Given the description of an element on the screen output the (x, y) to click on. 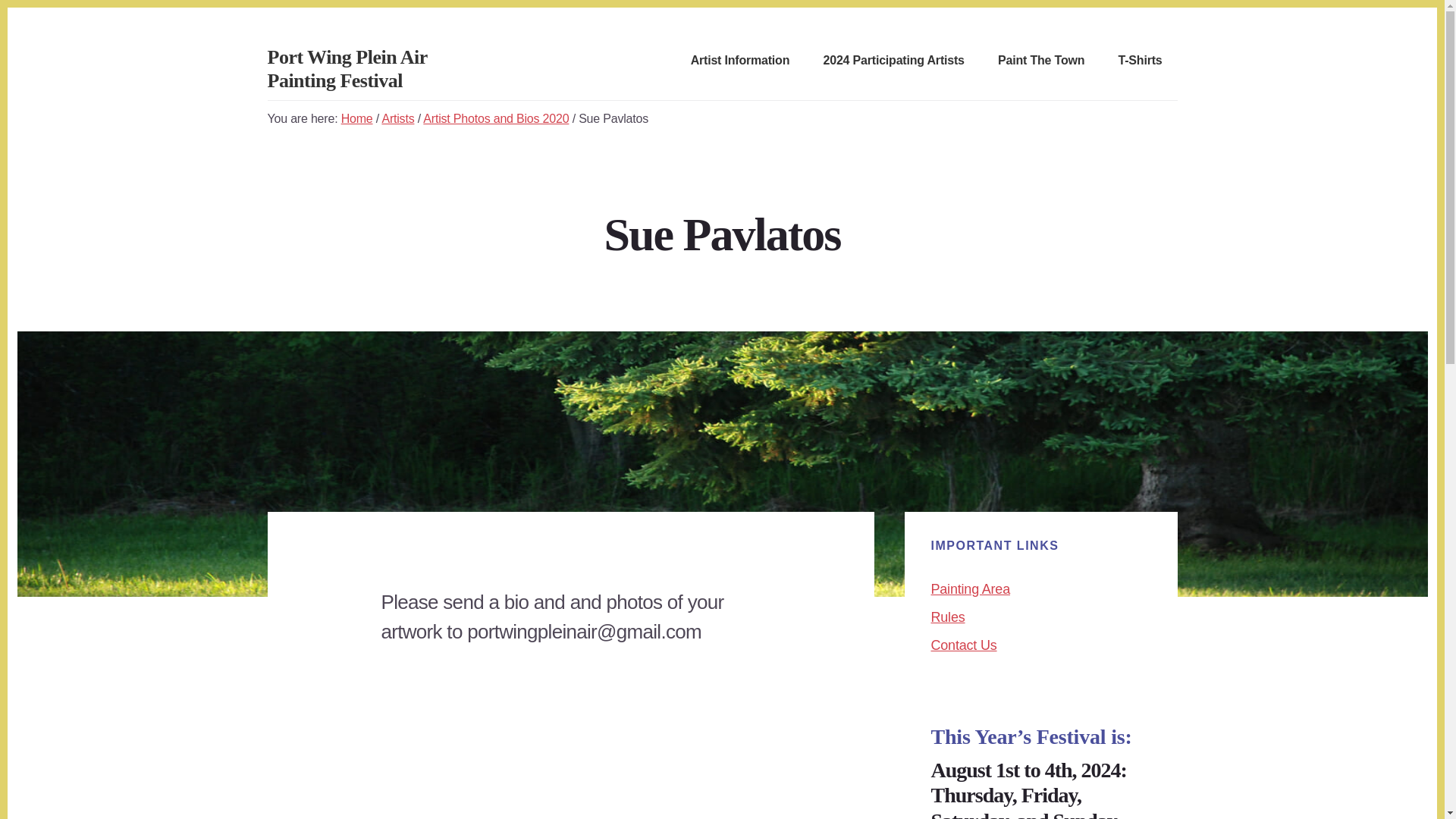
Painting Area (970, 589)
Contact Us (964, 645)
2024 Participating Artists (894, 61)
Artist Photos and Bios 2020 (496, 118)
Paint The Town (1040, 61)
Artist Information (740, 61)
Port Wing Plein Air Painting Festival (346, 68)
Home (356, 118)
Artists (397, 118)
T-Shirts (1140, 61)
Rules (948, 616)
